Given the description of an element on the screen output the (x, y) to click on. 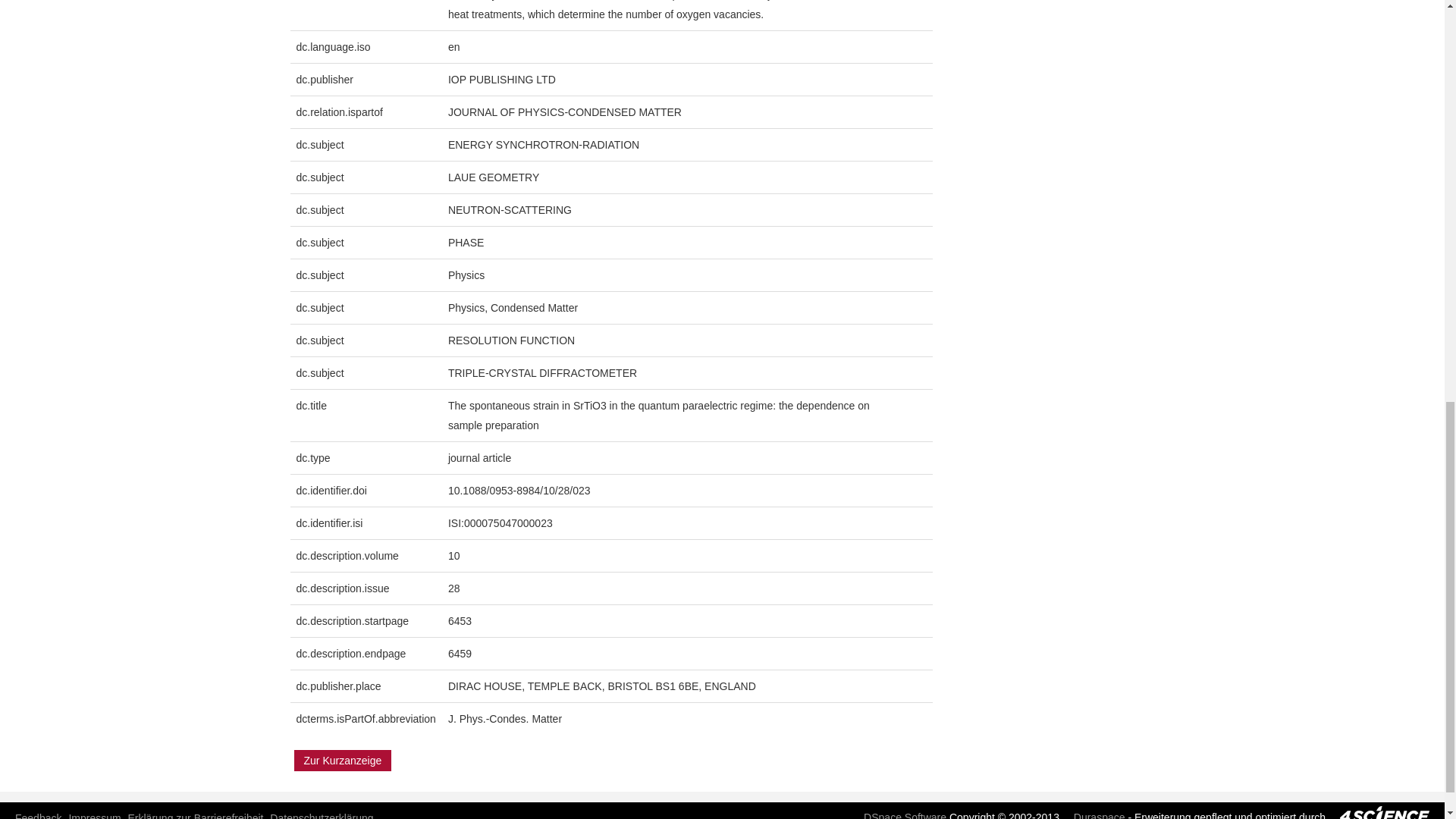
Duraspace (1093, 815)
Impressum (94, 815)
DSpace Software (898, 815)
Feedback (37, 815)
Zur Kurzanzeige (342, 760)
